Given the description of an element on the screen output the (x, y) to click on. 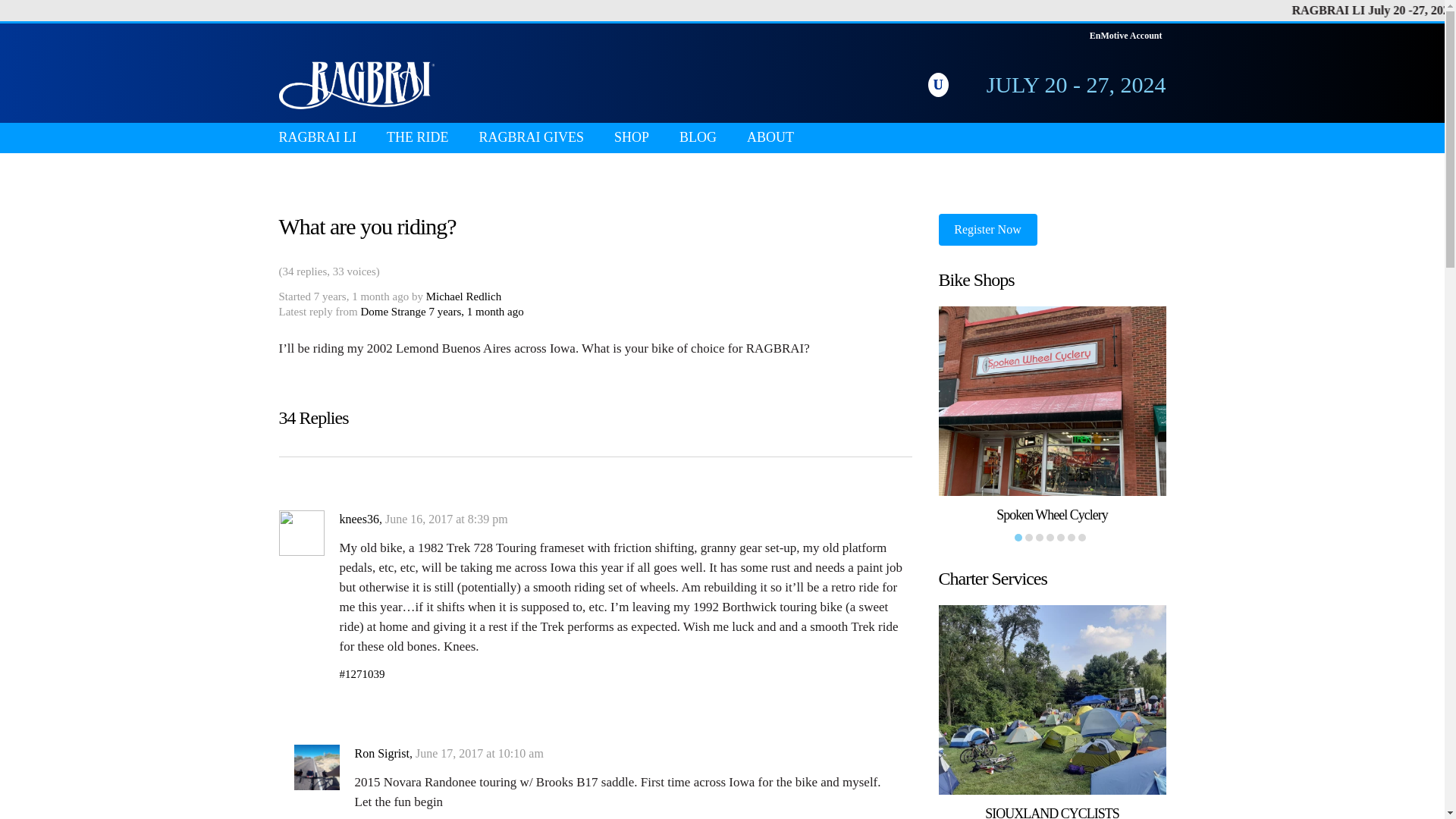
View knees36's profile (301, 551)
RAGBRAI GIVES (530, 137)
SHOP (630, 137)
View Ron Sigrist's profile (382, 753)
Reply To: What are you riding? (475, 311)
View Dome Strange's profile (392, 311)
EnMotive Account (1125, 35)
ABOUT (770, 137)
View knees36's profile (358, 518)
View Ron Sigrist's profile (316, 785)
RAGBRAI LI (317, 137)
View Michael Redlich's profile (464, 296)
BLOG (697, 137)
THE RIDE (417, 137)
